Given the description of an element on the screen output the (x, y) to click on. 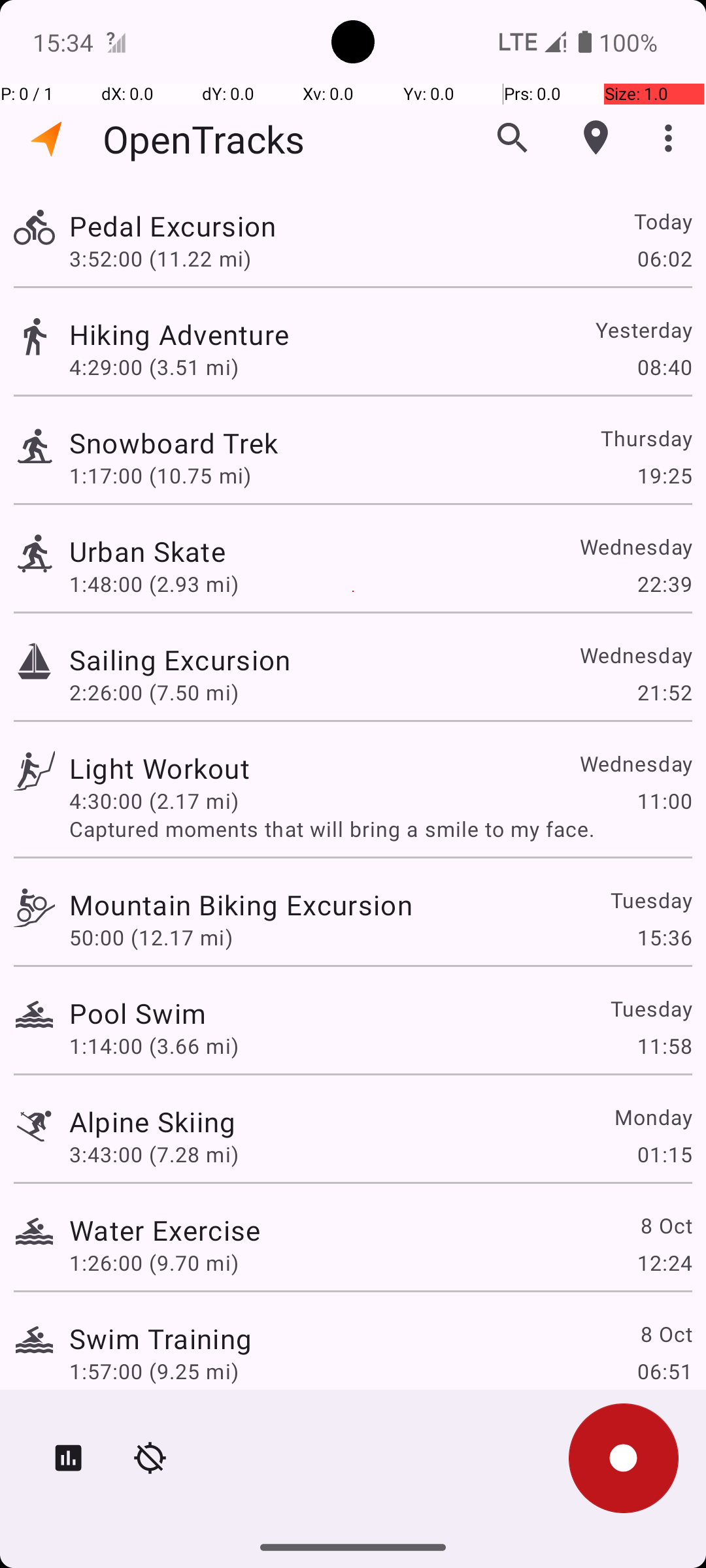
Pedal Excursion Element type: android.widget.TextView (172, 225)
3:52:00 (11.22 mi) Element type: android.widget.TextView (159, 258)
06:02 Element type: android.widget.TextView (664, 258)
Hiking Adventure Element type: android.widget.TextView (178, 333)
4:29:00 (3.51 mi) Element type: android.widget.TextView (153, 366)
08:40 Element type: android.widget.TextView (664, 366)
Snowboard Trek Element type: android.widget.TextView (173, 442)
1:17:00 (10.75 mi) Element type: android.widget.TextView (159, 475)
19:25 Element type: android.widget.TextView (664, 475)
Urban Skate Element type: android.widget.TextView (147, 550)
1:48:00 (2.93 mi) Element type: android.widget.TextView (153, 583)
22:39 Element type: android.widget.TextView (664, 583)
Sailing Excursion Element type: android.widget.TextView (179, 659)
2:26:00 (7.50 mi) Element type: android.widget.TextView (153, 692)
21:52 Element type: android.widget.TextView (664, 692)
Light Workout Element type: android.widget.TextView (159, 767)
4:30:00 (2.17 mi) Element type: android.widget.TextView (153, 800)
Captured moments that will bring a smile to my face. Element type: android.widget.TextView (380, 828)
Mountain Biking Excursion Element type: android.widget.TextView (240, 904)
50:00 (12.17 mi) Element type: android.widget.TextView (150, 937)
Pool Swim Element type: android.widget.TextView (137, 1012)
1:14:00 (3.66 mi) Element type: android.widget.TextView (153, 1045)
11:58 Element type: android.widget.TextView (664, 1045)
Alpine Skiing Element type: android.widget.TextView (152, 1121)
3:43:00 (7.28 mi) Element type: android.widget.TextView (153, 1154)
01:15 Element type: android.widget.TextView (664, 1154)
Water Exercise Element type: android.widget.TextView (164, 1229)
1:26:00 (9.70 mi) Element type: android.widget.TextView (153, 1262)
12:24 Element type: android.widget.TextView (664, 1262)
Swim Training Element type: android.widget.TextView (160, 1337)
1:57:00 (9.25 mi) Element type: android.widget.TextView (153, 1370)
06:51 Element type: android.widget.TextView (664, 1370)
